Given the description of an element on the screen output the (x, y) to click on. 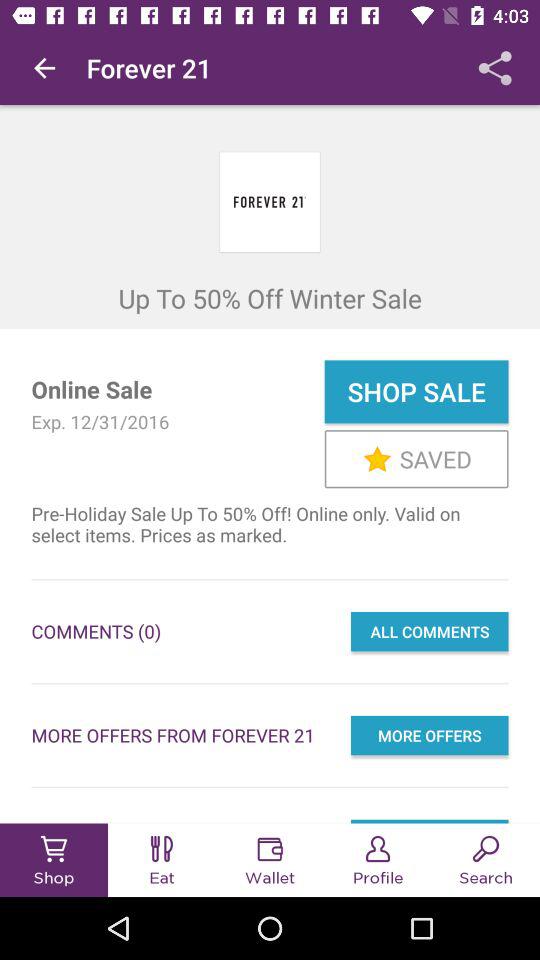
press the app next to the forever 21 item (495, 67)
